Given the description of an element on the screen output the (x, y) to click on. 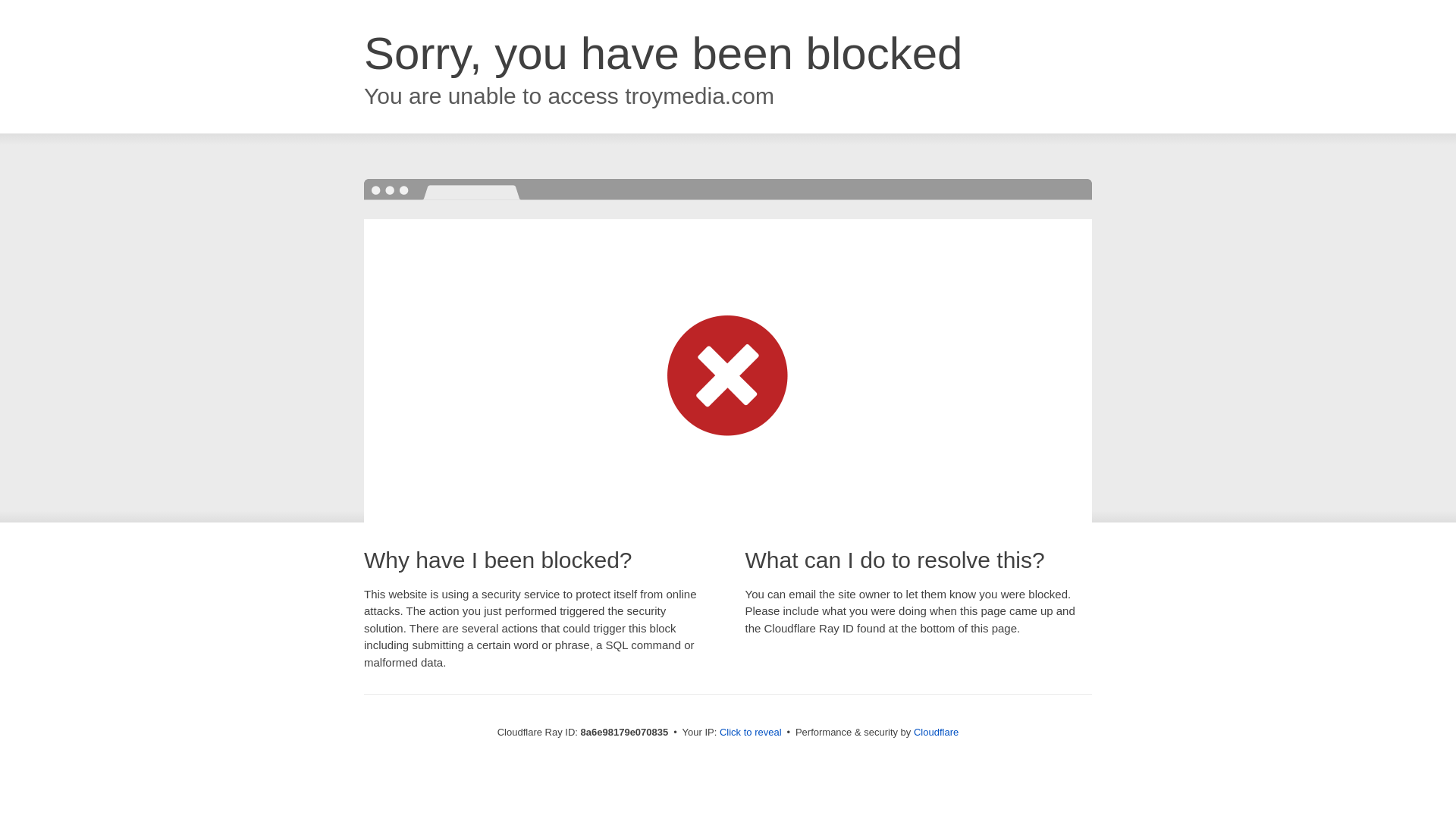
Cloudflare (936, 731)
Click to reveal (750, 732)
